Given the description of an element on the screen output the (x, y) to click on. 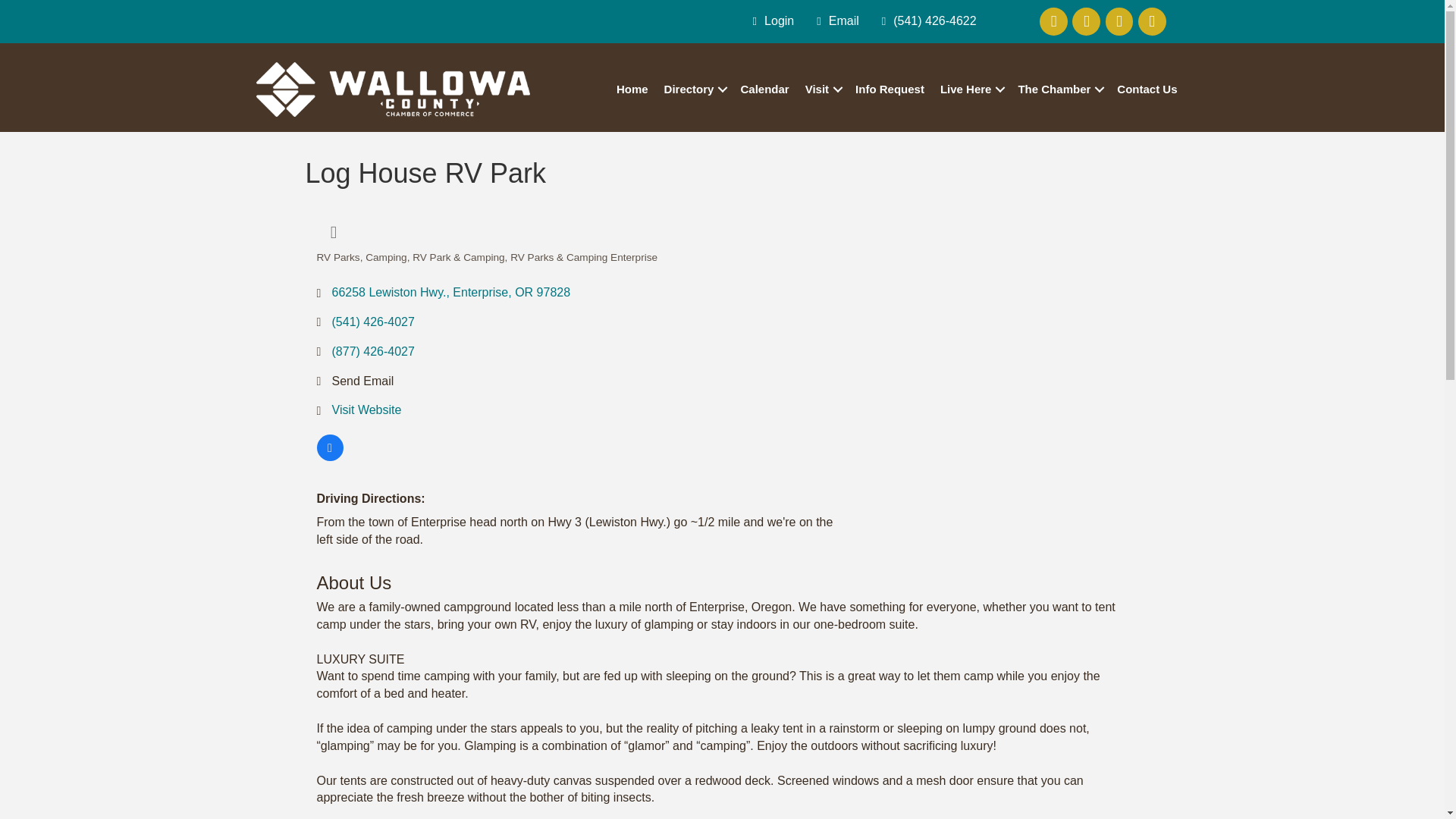
View on Facebook (330, 456)
Calendar (764, 88)
Email (834, 21)
wccc-horizontal-chamber-white-h100 (392, 89)
Visit (822, 88)
Login (769, 21)
Directory (694, 88)
Home (632, 88)
